Given the description of an element on the screen output the (x, y) to click on. 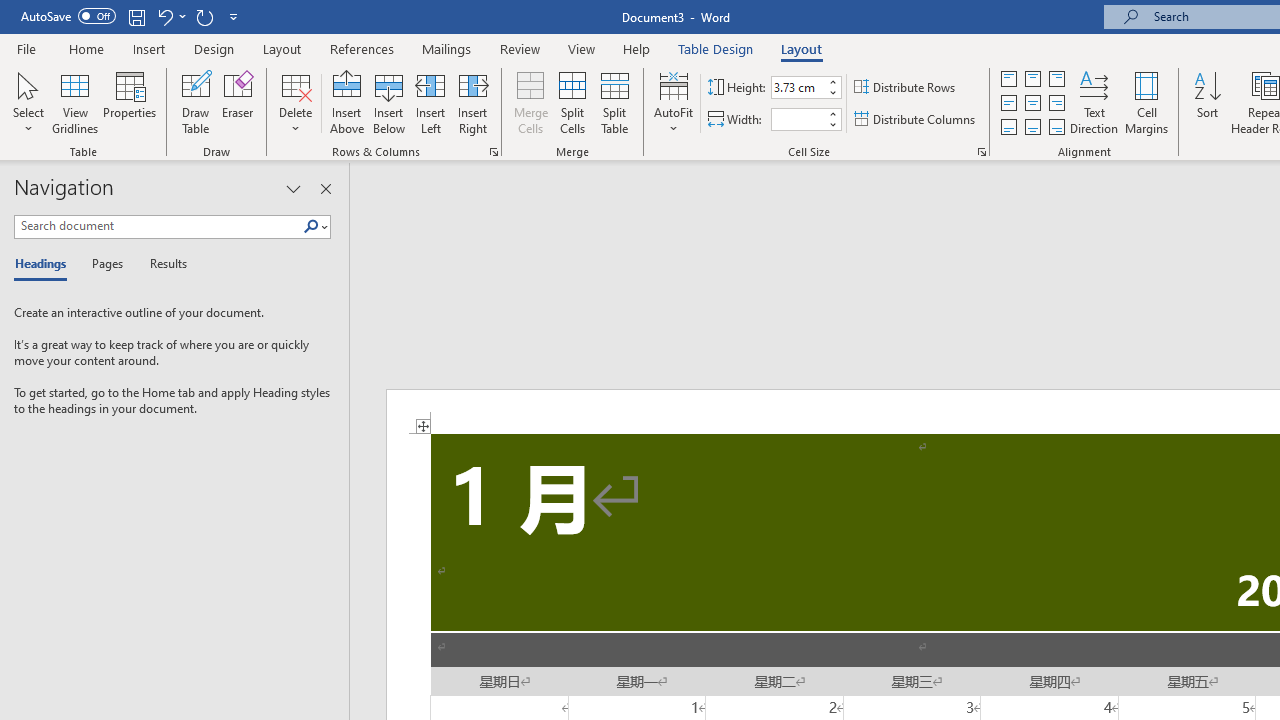
Insert Below (388, 102)
Align Top Center (1032, 78)
Draw Table (196, 102)
Align Bottom Right (1056, 126)
Table Column Width (797, 119)
Align Top Right (1056, 78)
Delete (296, 102)
Align Center Justified (1009, 103)
Align Bottom Center (1032, 126)
Distribute Rows (906, 87)
Split Cells... (572, 102)
